Given the description of an element on the screen output the (x, y) to click on. 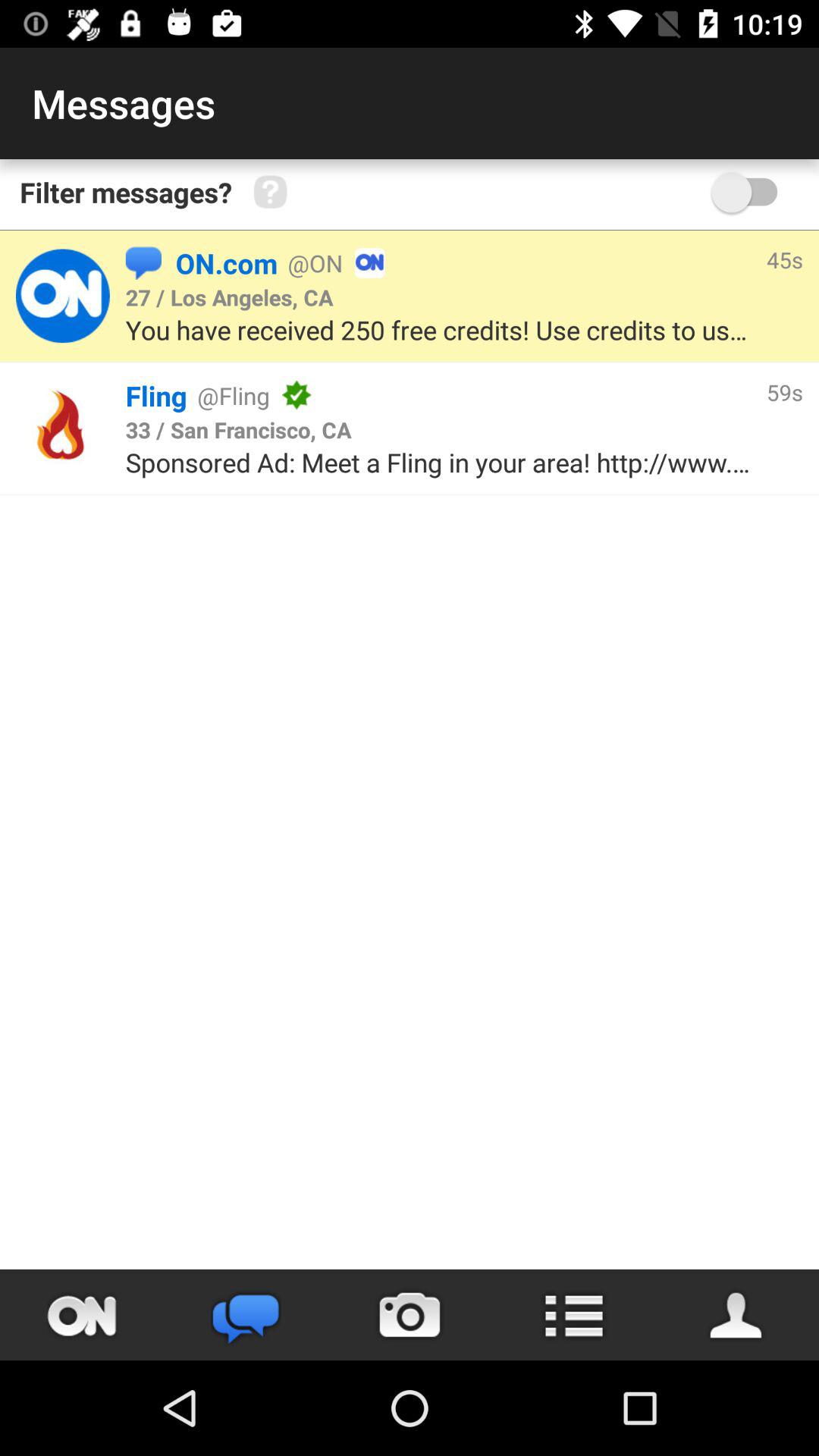
website icon (62, 428)
